Given the description of an element on the screen output the (x, y) to click on. 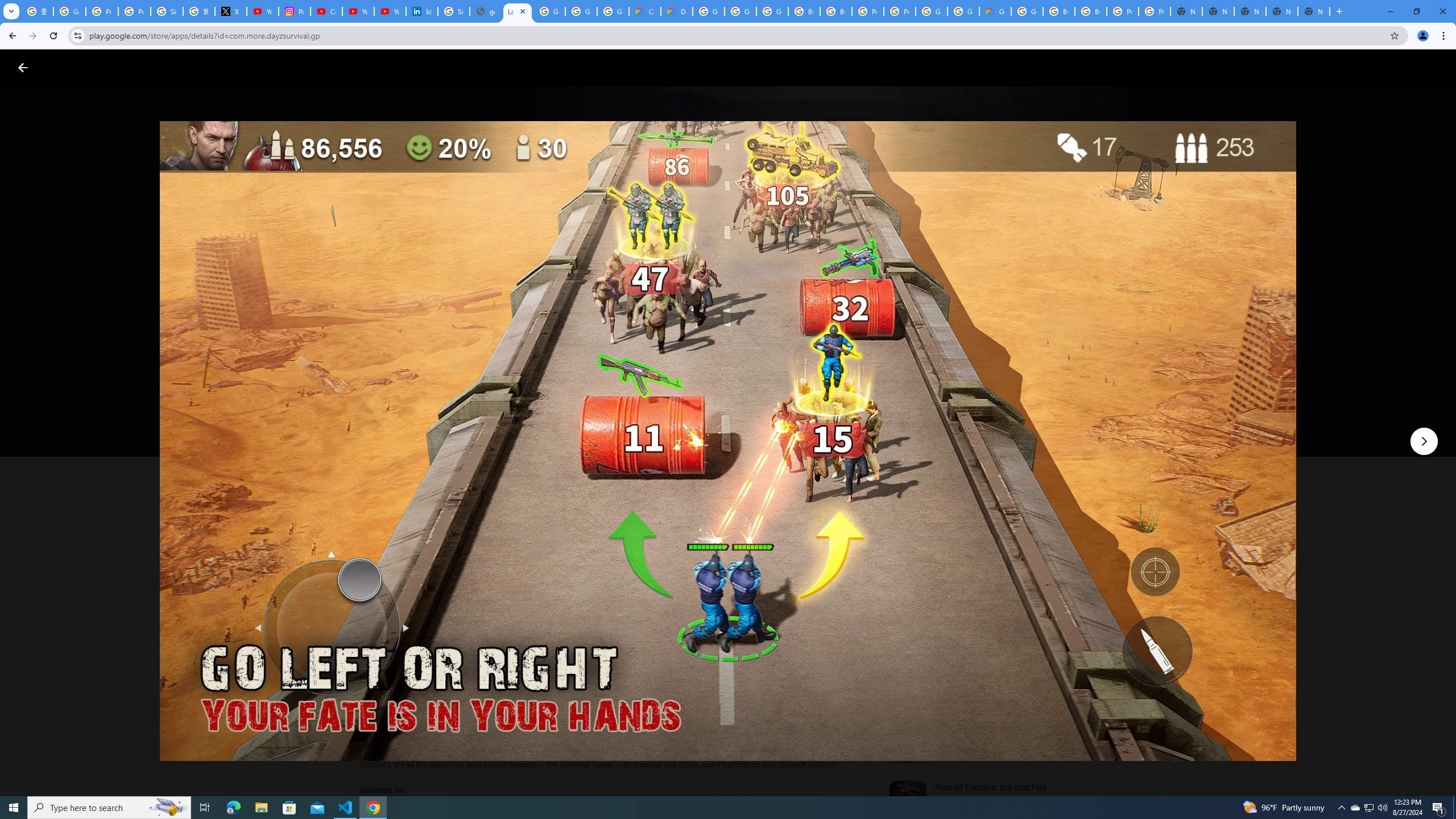
Last Shelter: Survival - Apps on Google Play (517, 11)
Kids (219, 67)
See more information on About this game (472, 681)
Browse Chrome as a guest - Computer - Google Chrome Help (804, 11)
Add to wishlist (576, 422)
